Given the description of an element on the screen output the (x, y) to click on. 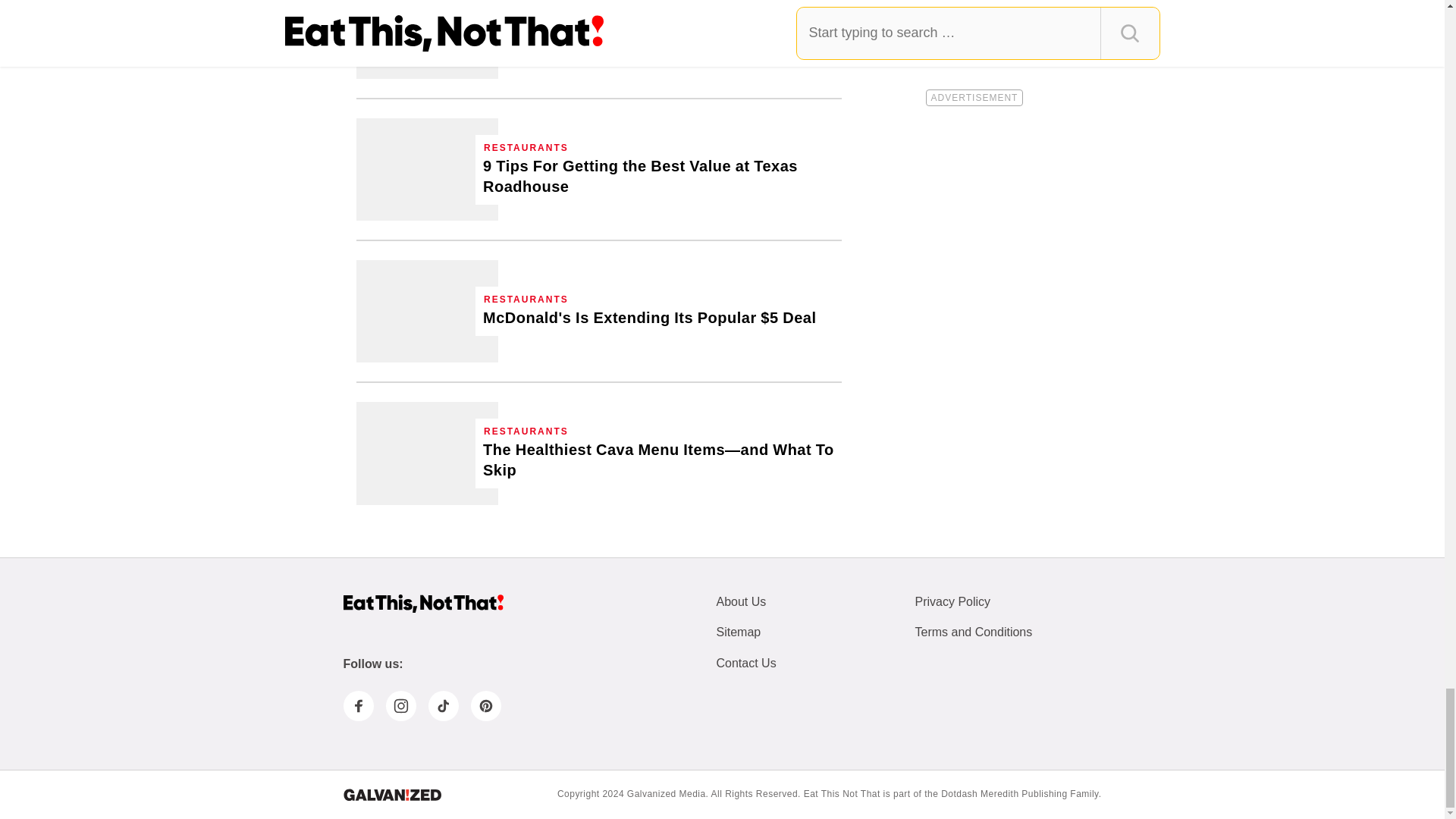
9 Major Changes Underway at McDonald's (641, 34)
9 Insider Tips For Getting the Best Value at Texas Roadhouse (658, 176)
9 Major Changes Underway at McDonald's (426, 39)
9 Insider Tips For Getting the Best Value at Texas Roadhouse (426, 168)
